Given the description of an element on the screen output the (x, y) to click on. 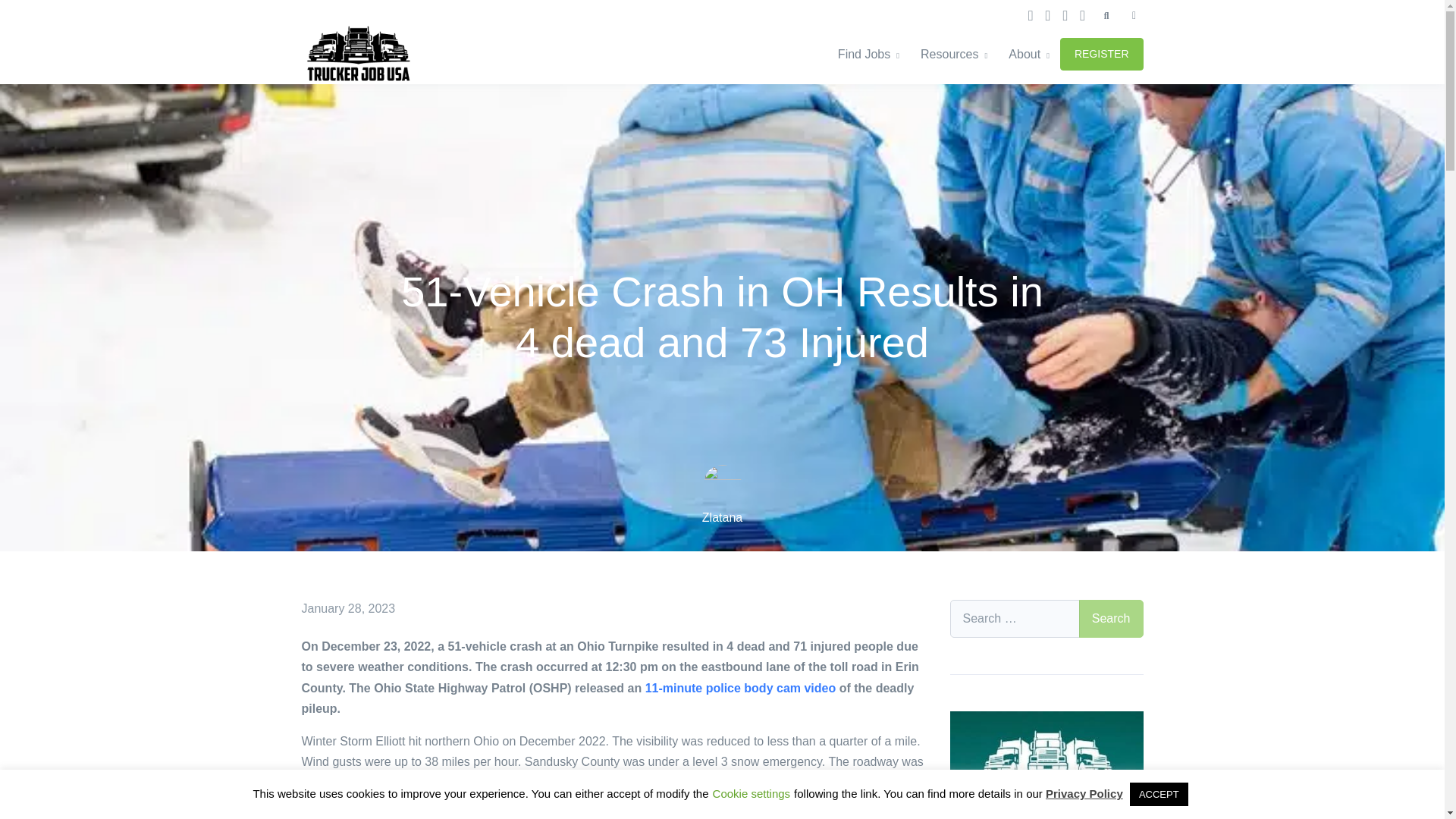
Search (1110, 618)
Find Jobs (874, 54)
Resources (990, 54)
Search (953, 54)
Find Jobs (1110, 618)
